Given the description of an element on the screen output the (x, y) to click on. 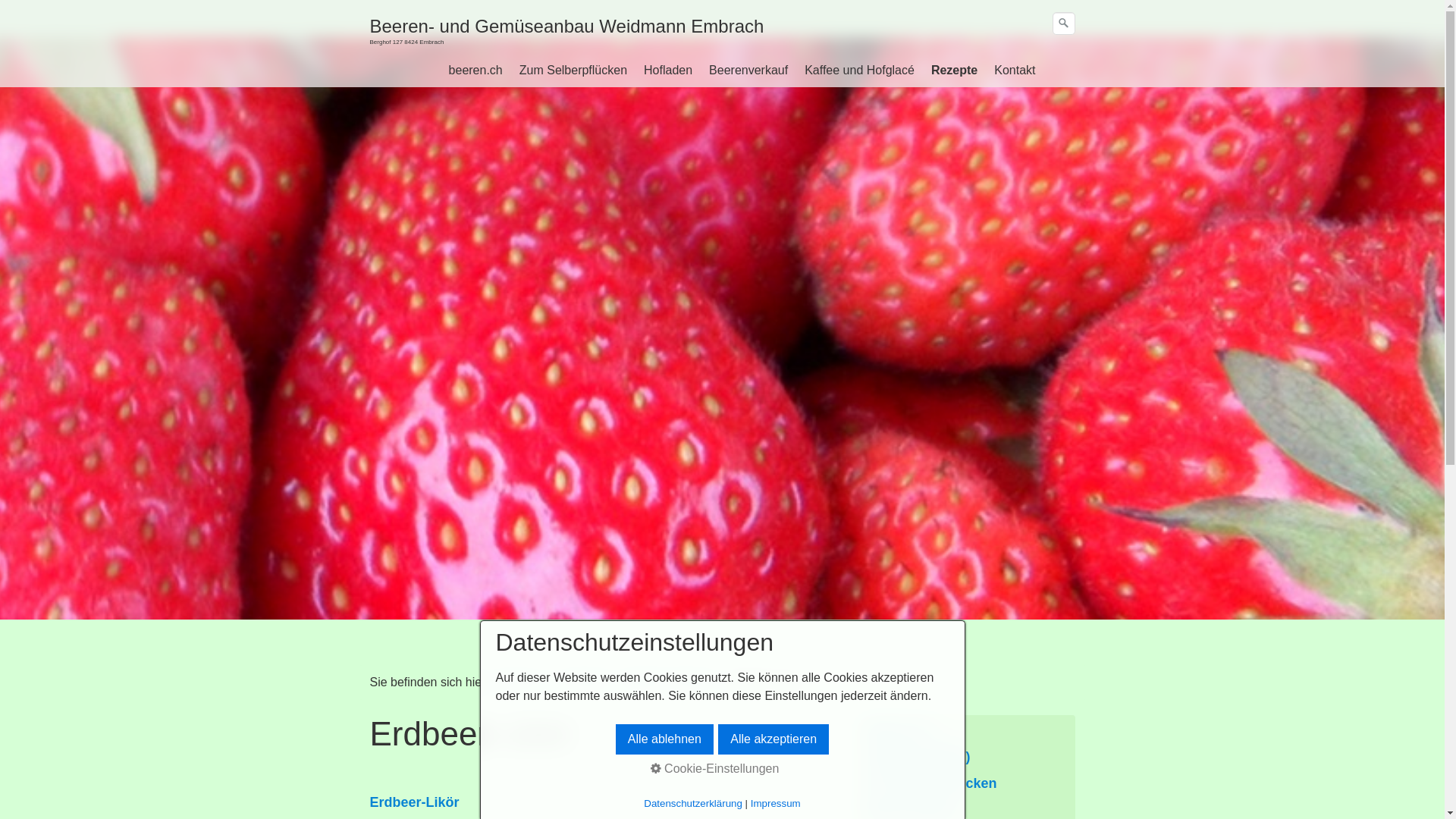
Hofladen Element type: text (667, 70)
Kontakt Element type: text (1014, 70)
Suche Element type: hover (1063, 23)
Erdbeer Rezepte Element type: text (668, 681)
Cookie-Einstellungen Element type: text (714, 768)
Aktuelles (Blog) Element type: text (918, 756)
Alle akzeptieren Element type: text (773, 739)
Beerenverkauf Element type: text (748, 70)
beeren.ch Element type: text (522, 681)
Beerenvekauf Element type: text (911, 810)
Beeren.ch Element type: text (899, 729)
Suchen Element type: hover (1062, 23)
beeren.ch Element type: text (475, 70)
Rezepte Element type: text (954, 70)
Rezepte Element type: text (585, 681)
Impressum Element type: text (775, 803)
Alle ablehnen Element type: text (664, 739)
